Given the description of an element on the screen output the (x, y) to click on. 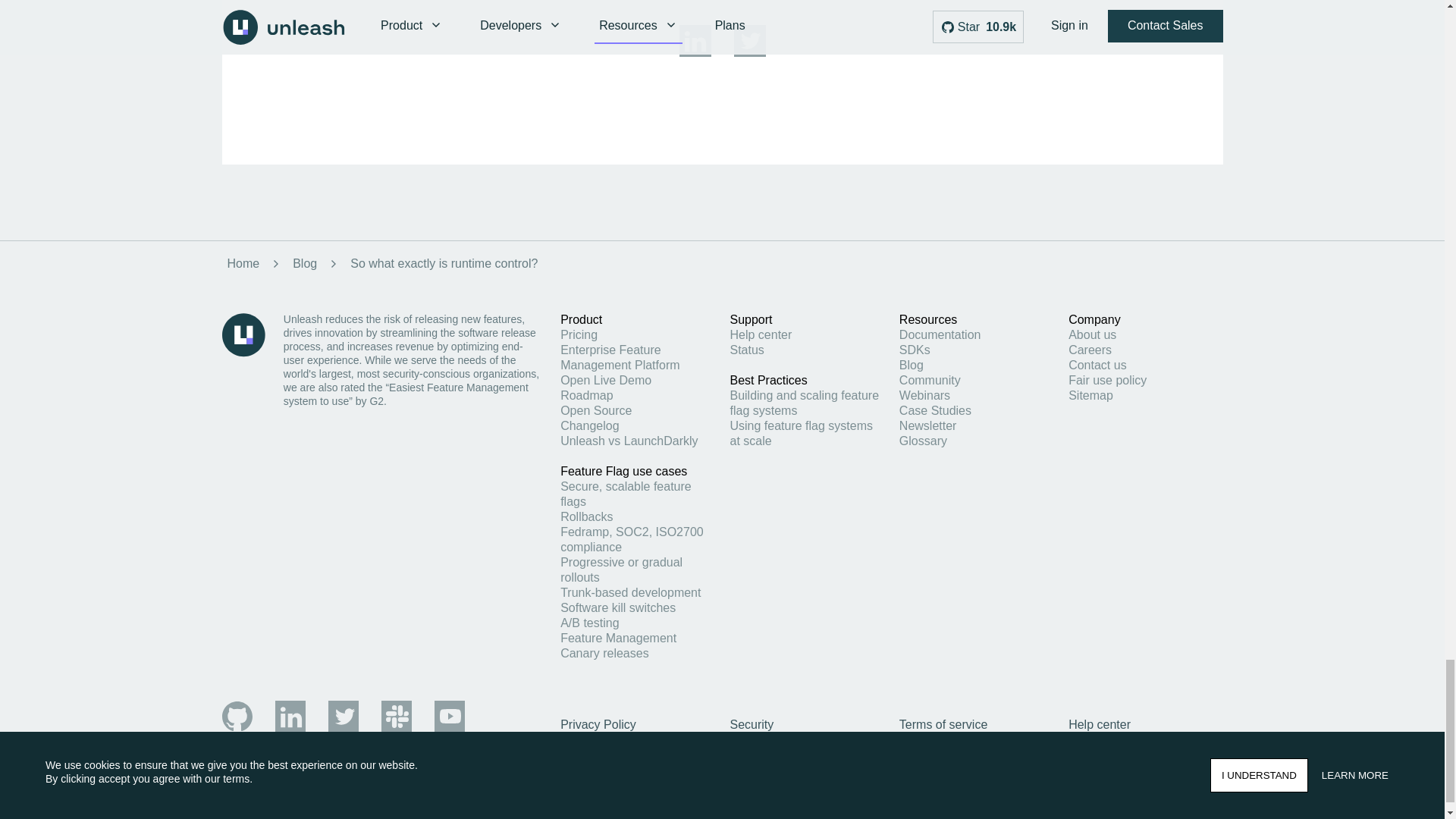
Enterprise Feature Management Platform (619, 357)
Secure, scalable feature flags (625, 493)
Pricing (578, 334)
Changelog (589, 425)
Roadmap (586, 395)
So what exactly is runtime control? (443, 263)
Share this article on LinkedIn (695, 53)
Home (240, 263)
Open Live Demo (605, 379)
Unleash vs LaunchDarkly (628, 440)
